Given the description of an element on the screen output the (x, y) to click on. 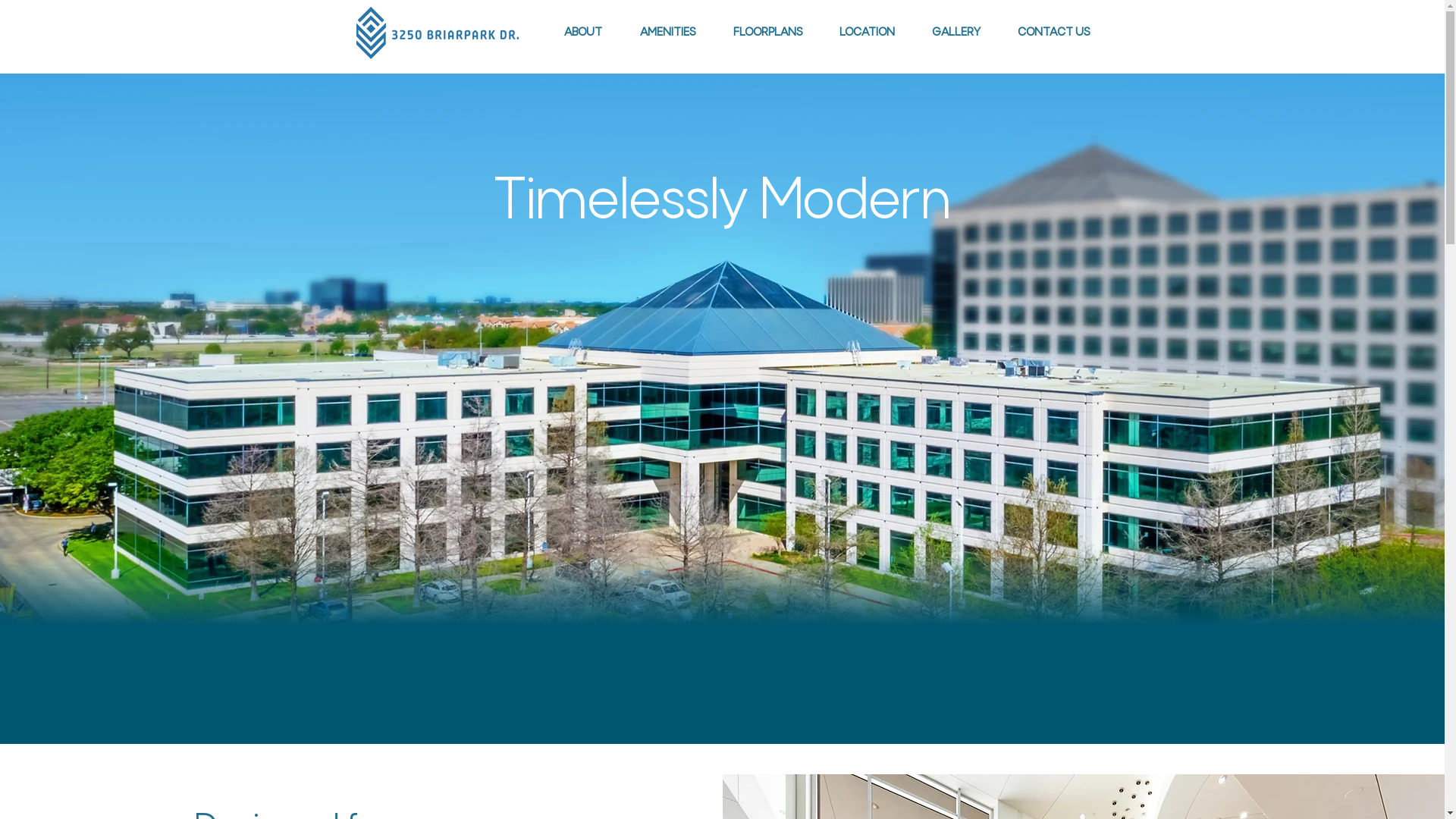
AMENITIES Element type: text (666, 32)
GALLERY Element type: text (955, 32)
CONTACT US Element type: text (1053, 32)
LOCATION Element type: text (866, 32)
FLOORPLANS Element type: text (767, 32)
ABOUT Element type: text (582, 32)
